Given the description of an element on the screen output the (x, y) to click on. 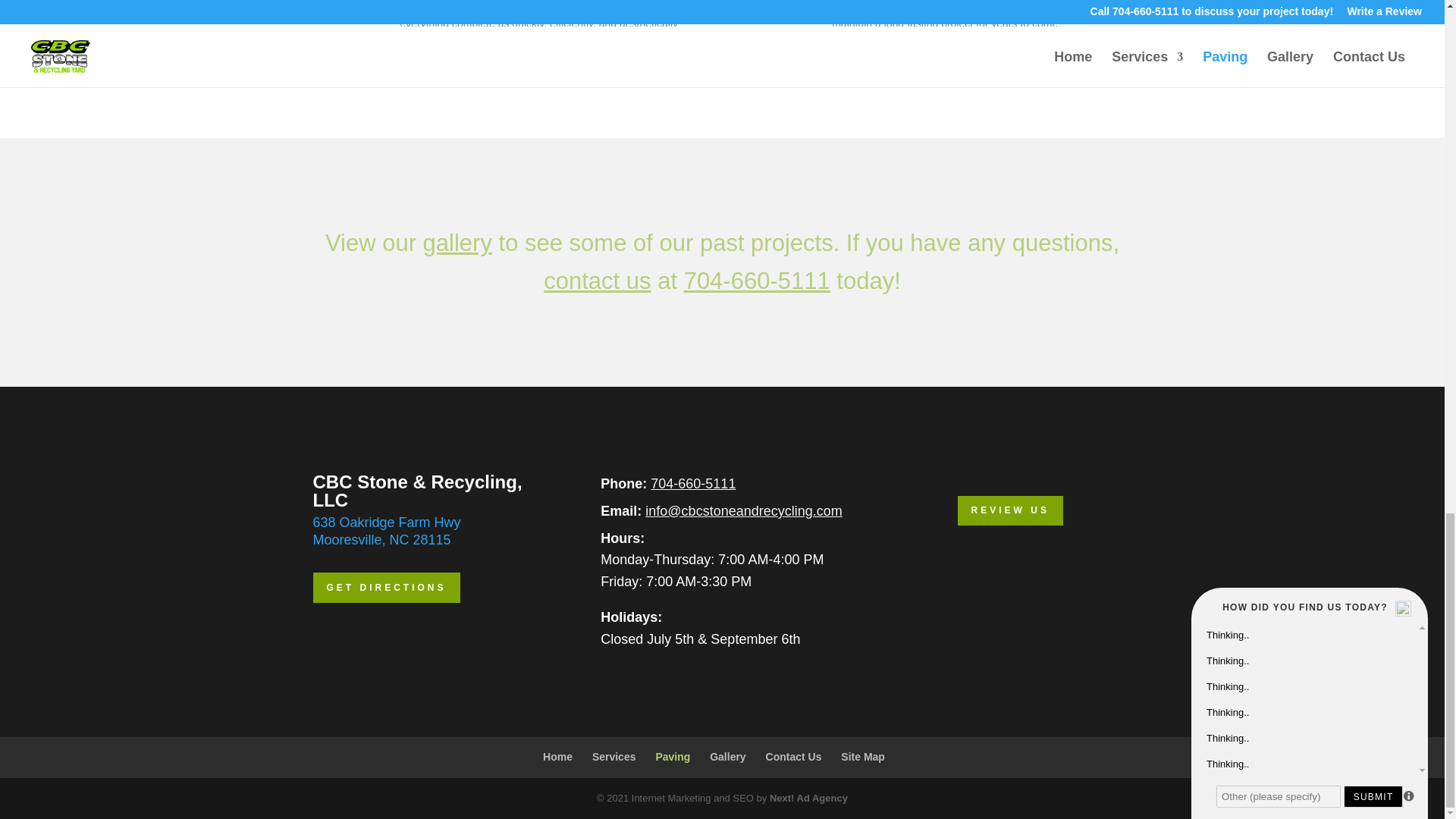
GET DIRECTIONS (386, 587)
Mooresville, NC 28115 (381, 539)
704-660-5111 (756, 280)
638 Oakridge Farm Hwy (386, 522)
704-660-5111 (692, 483)
gallery (457, 243)
contact us (596, 280)
